Given the description of an element on the screen output the (x, y) to click on. 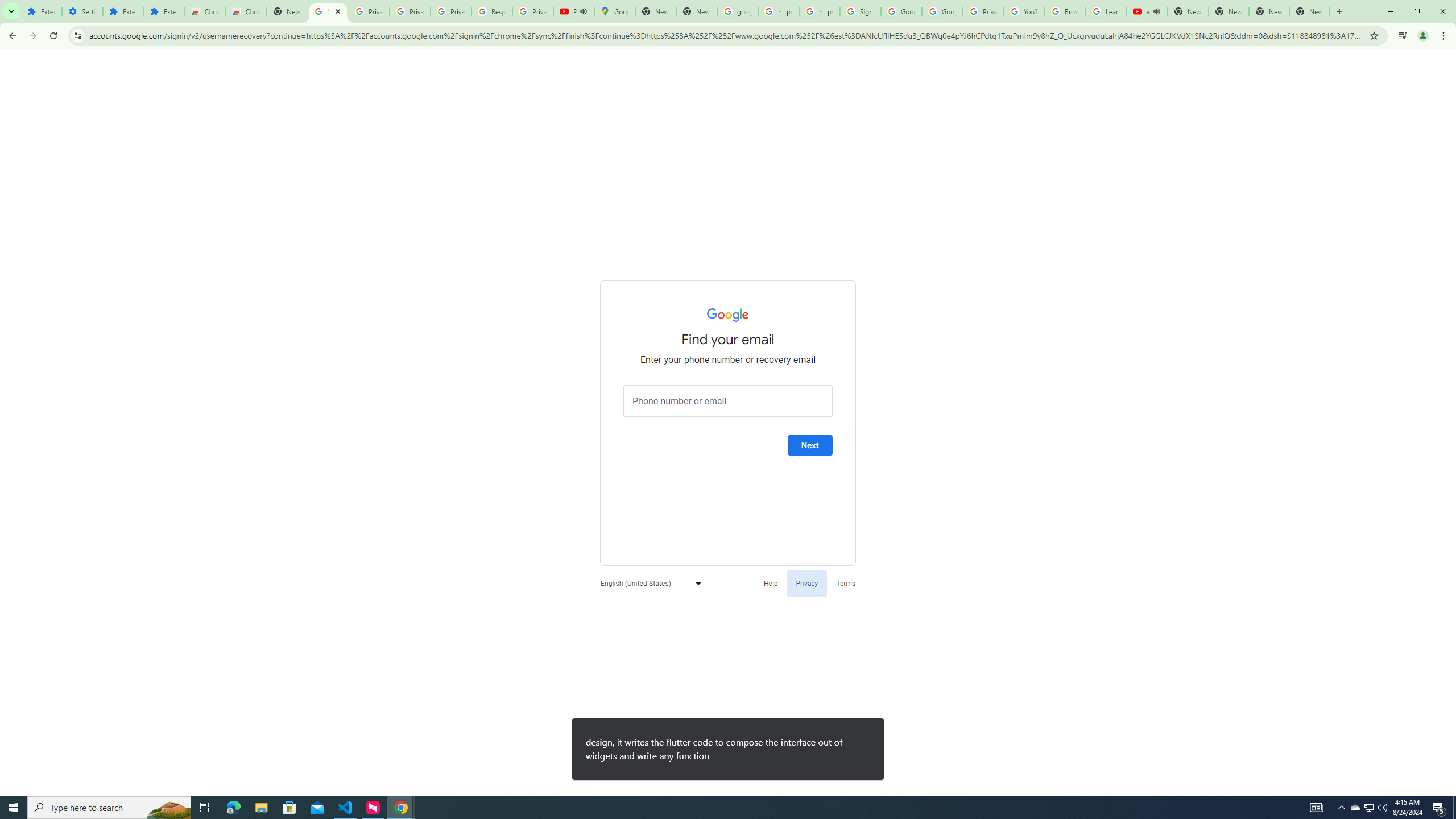
https://scholar.google.com/ (818, 11)
Chrome Web Store (205, 11)
New Tab (1228, 11)
Google Maps (614, 11)
Browse Chrome as a guest - Computer - Google Chrome Help (1064, 11)
Chrome Web Store - Themes (246, 11)
YouTube (1023, 11)
